Given the description of an element on the screen output the (x, y) to click on. 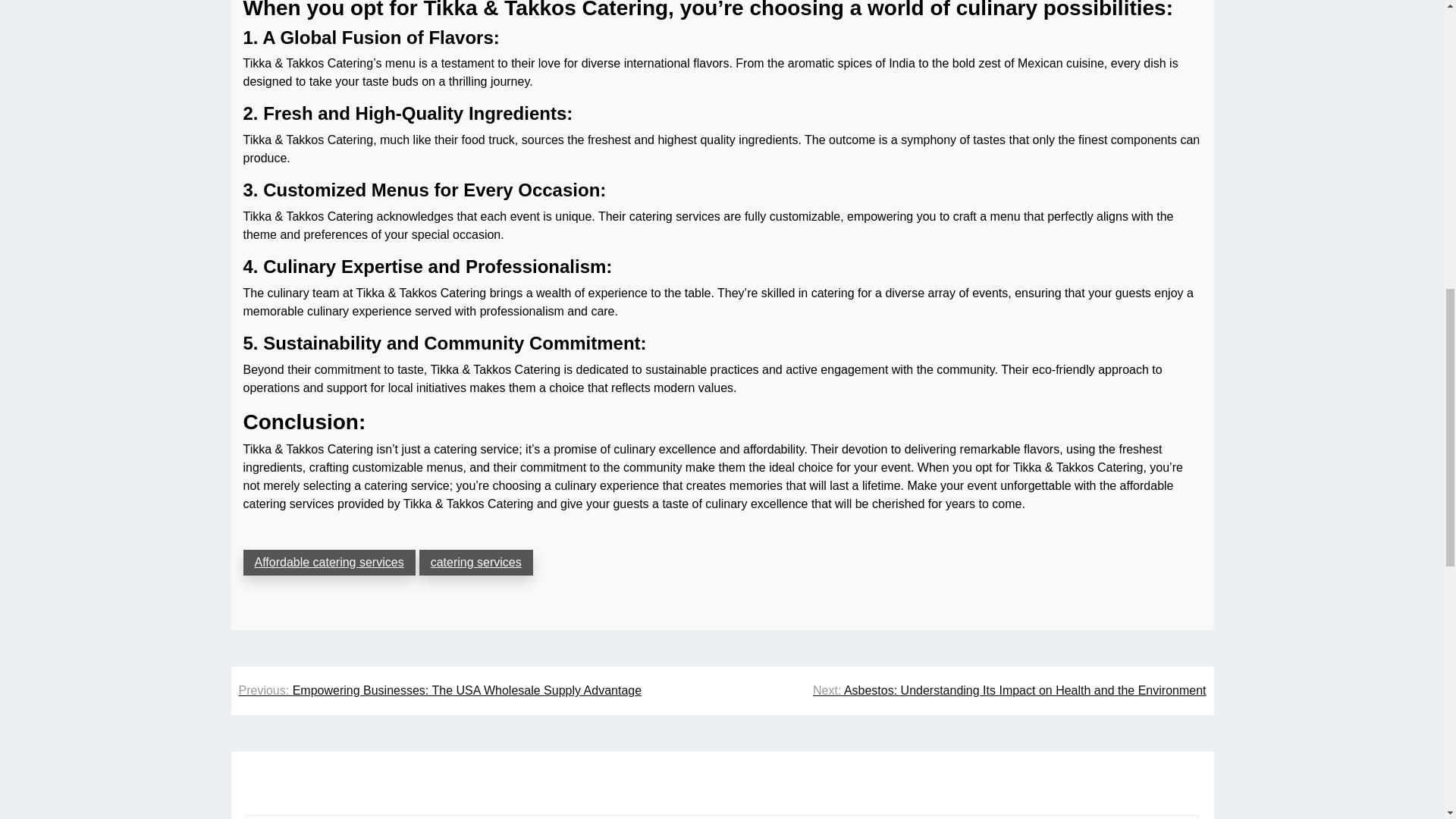
Affordable catering services (328, 562)
catering services (475, 562)
